Given the description of an element on the screen output the (x, y) to click on. 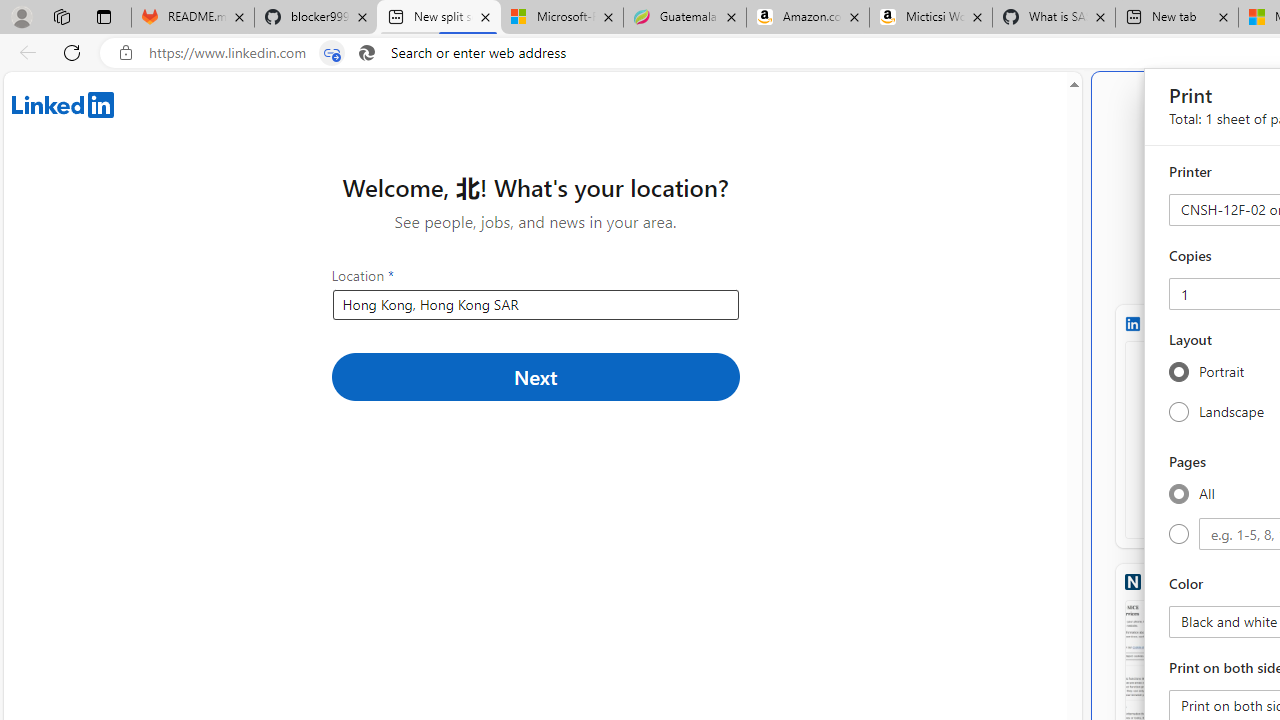
All (1178, 493)
Custom (1178, 534)
Landscape (1178, 411)
Portrait (1178, 372)
